Given the description of an element on the screen output the (x, y) to click on. 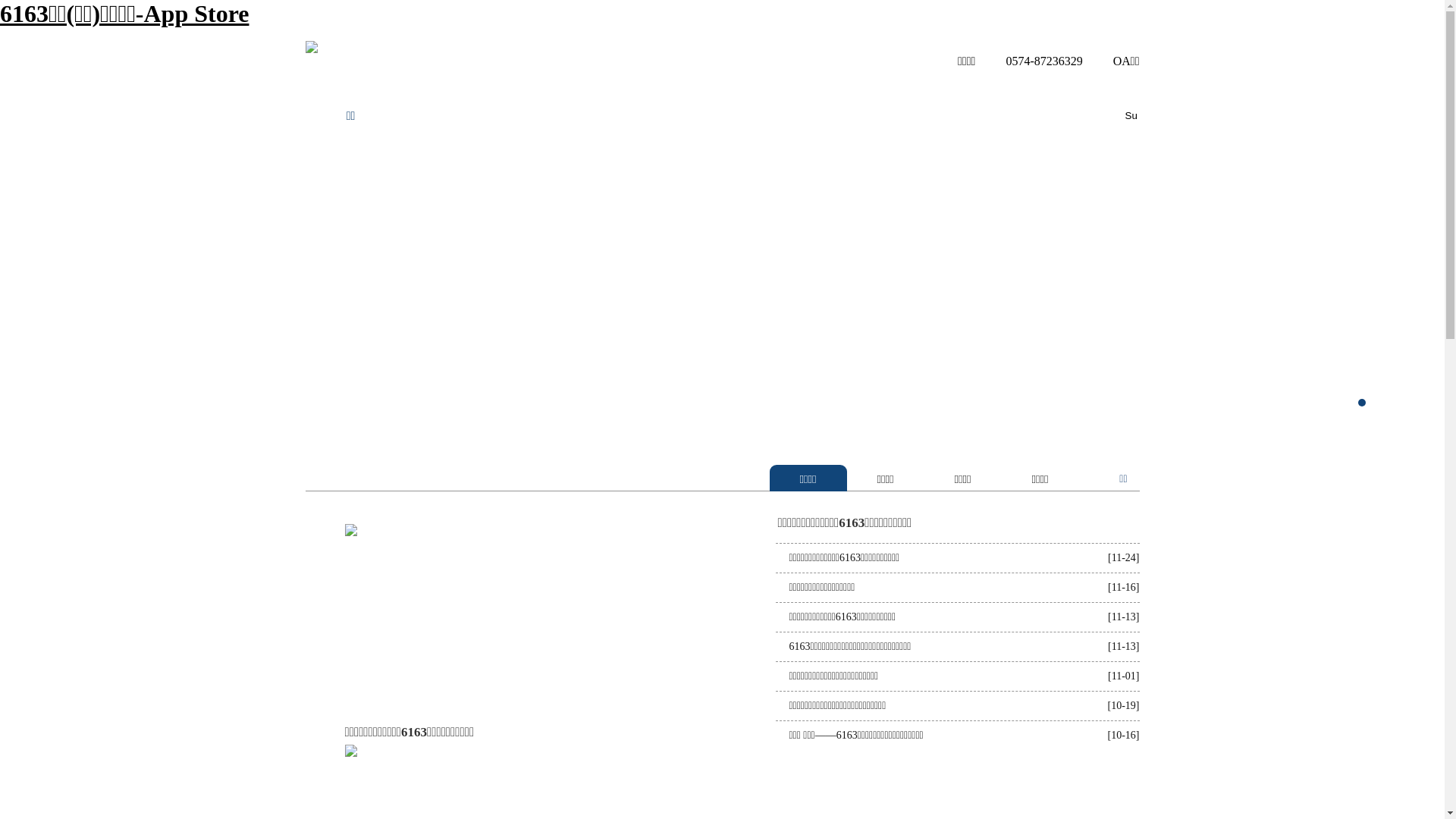
0574-87236329 Element type: text (1030, 60)
